Given the description of an element on the screen output the (x, y) to click on. 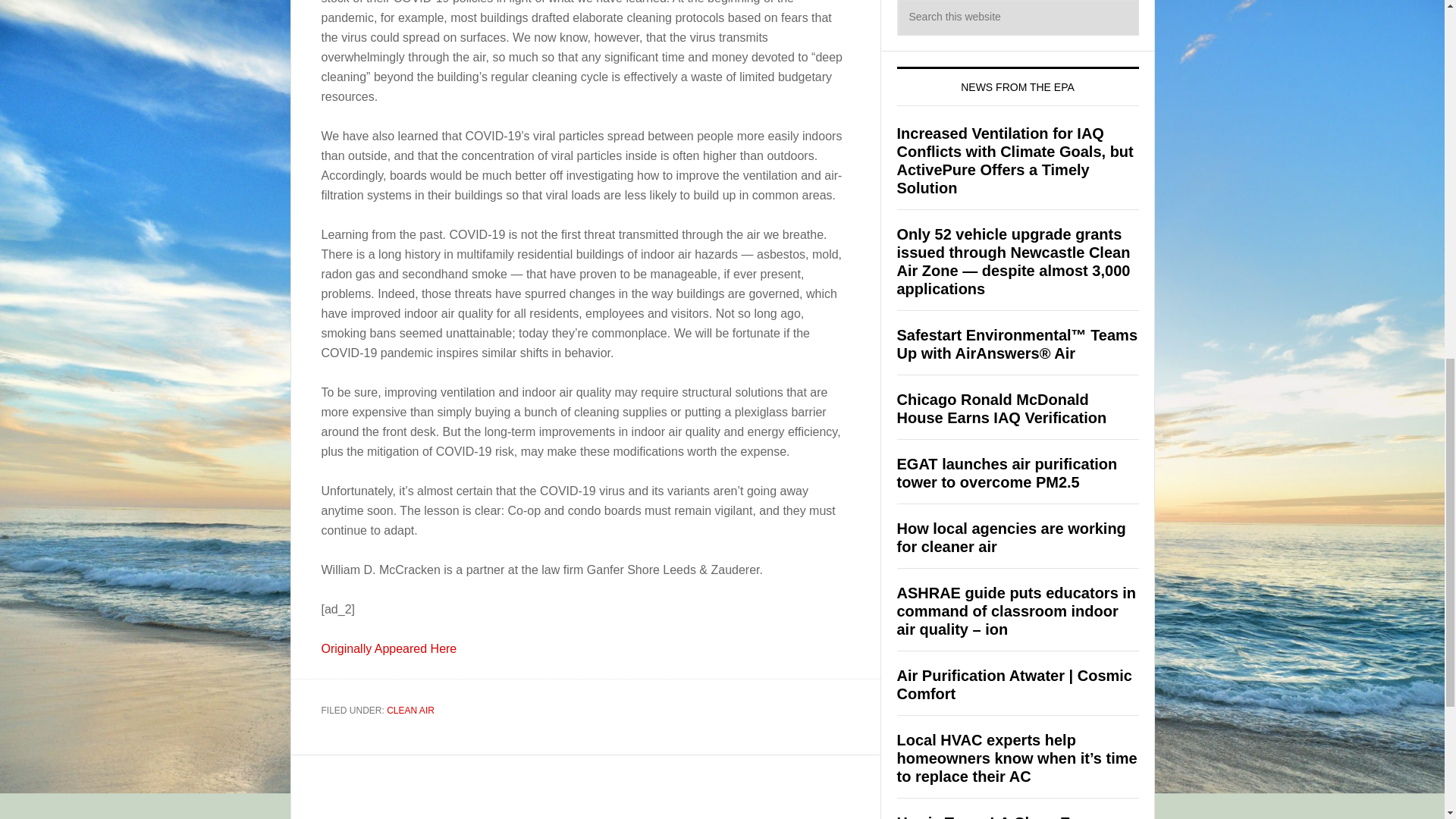
CLEAN AIR (410, 710)
Chicago Ronald McDonald House Earns IAQ Verification (1001, 408)
How local agencies are working for cleaner air (1010, 537)
EGAT launches air purification tower to overcome PM2.5 (1006, 472)
Originally Appeared Here (389, 648)
